Given the description of an element on the screen output the (x, y) to click on. 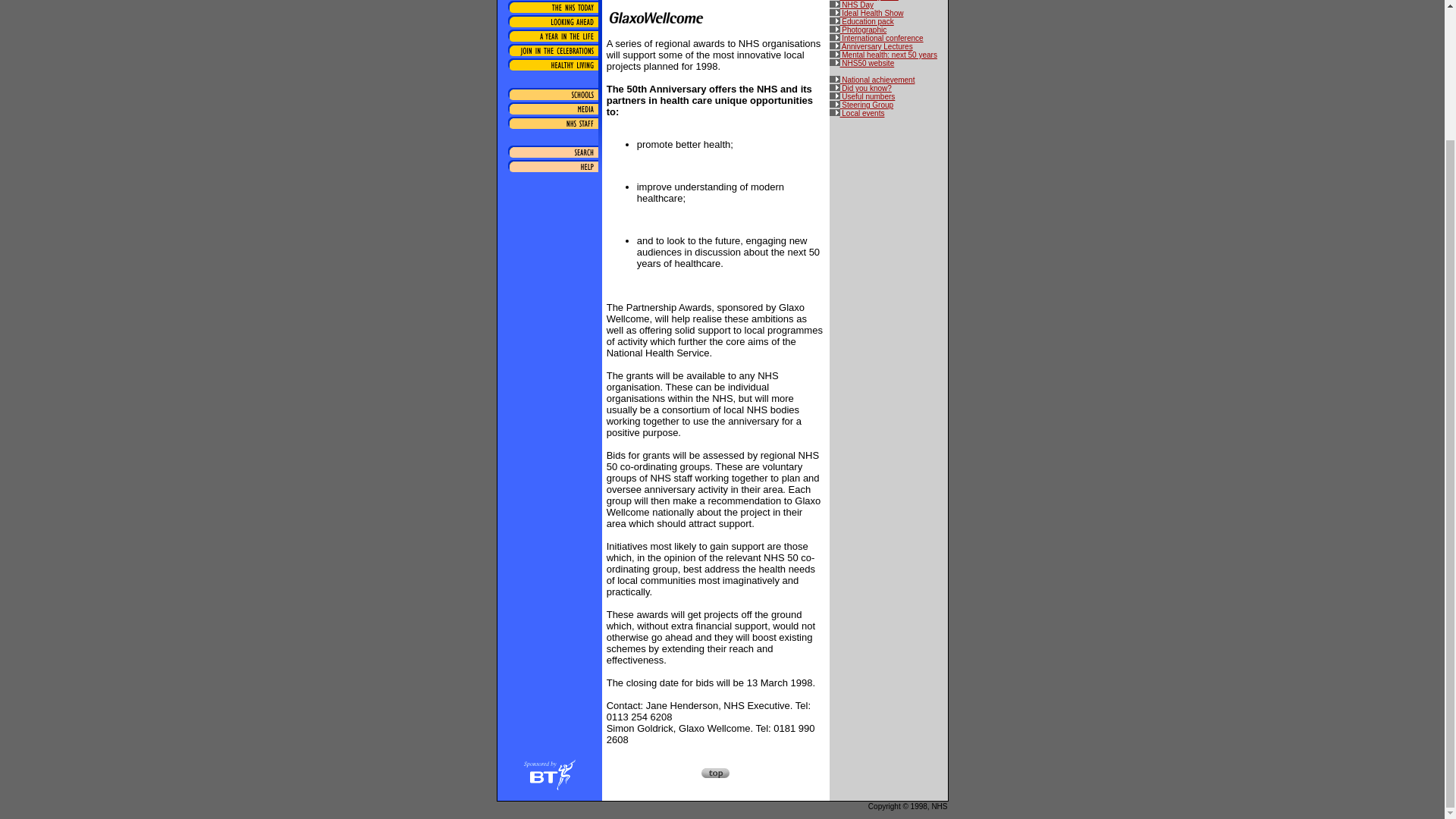
National achievement (872, 80)
Photographic (857, 29)
Mental health: next 50 years (883, 54)
Did you know? (860, 88)
Steering Group (861, 104)
International conference (876, 38)
NHS50 website (862, 62)
Anniversary rose (863, 0)
Local events (857, 112)
Anniversary Lectures (870, 46)
Useful numbers (862, 96)
Education pack (861, 21)
NHS Day (851, 4)
Ideal Health Show (866, 13)
